Given the description of an element on the screen output the (x, y) to click on. 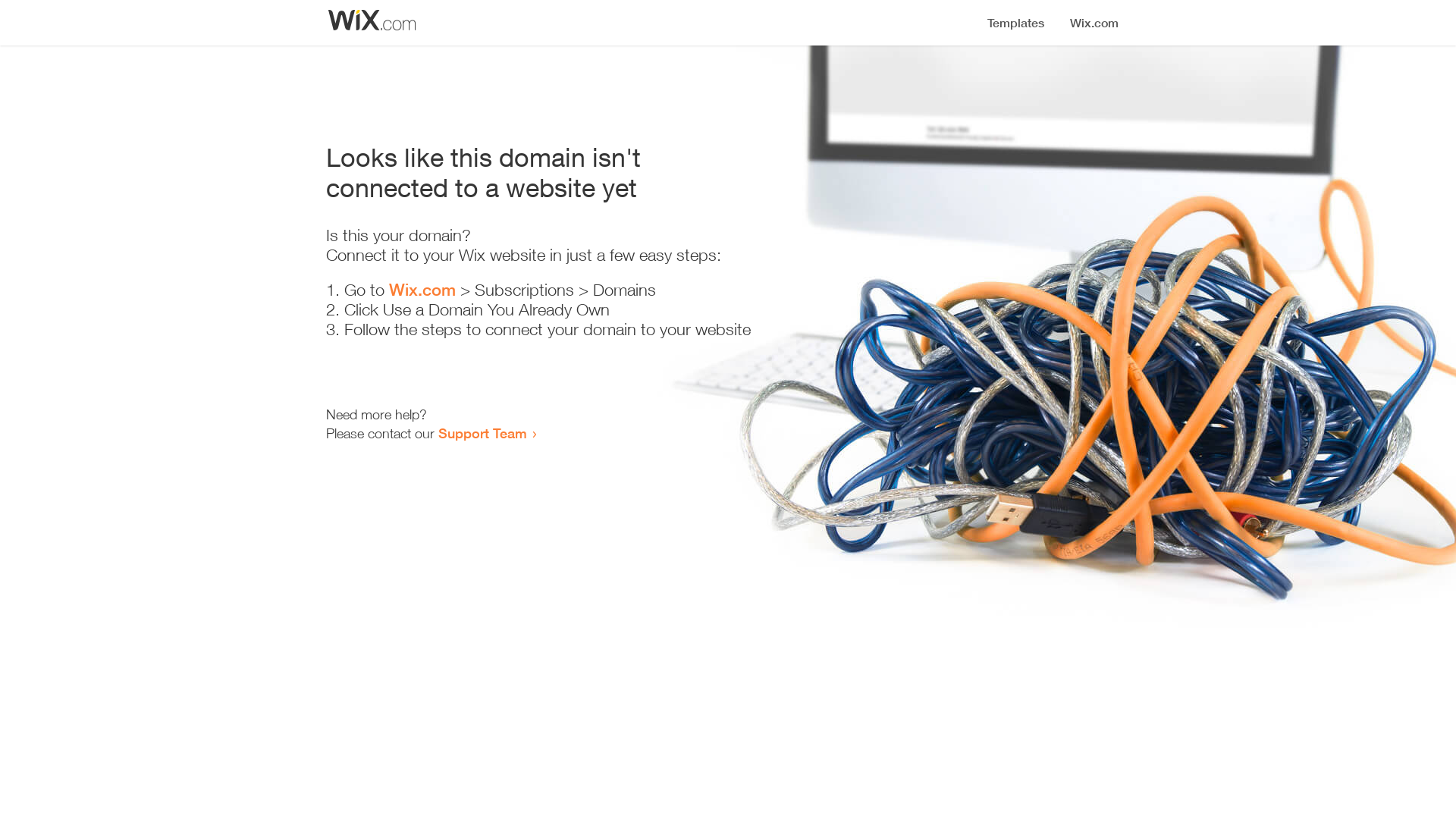
Support Team Element type: text (482, 432)
Wix.com Element type: text (422, 289)
